Given the description of an element on the screen output the (x, y) to click on. 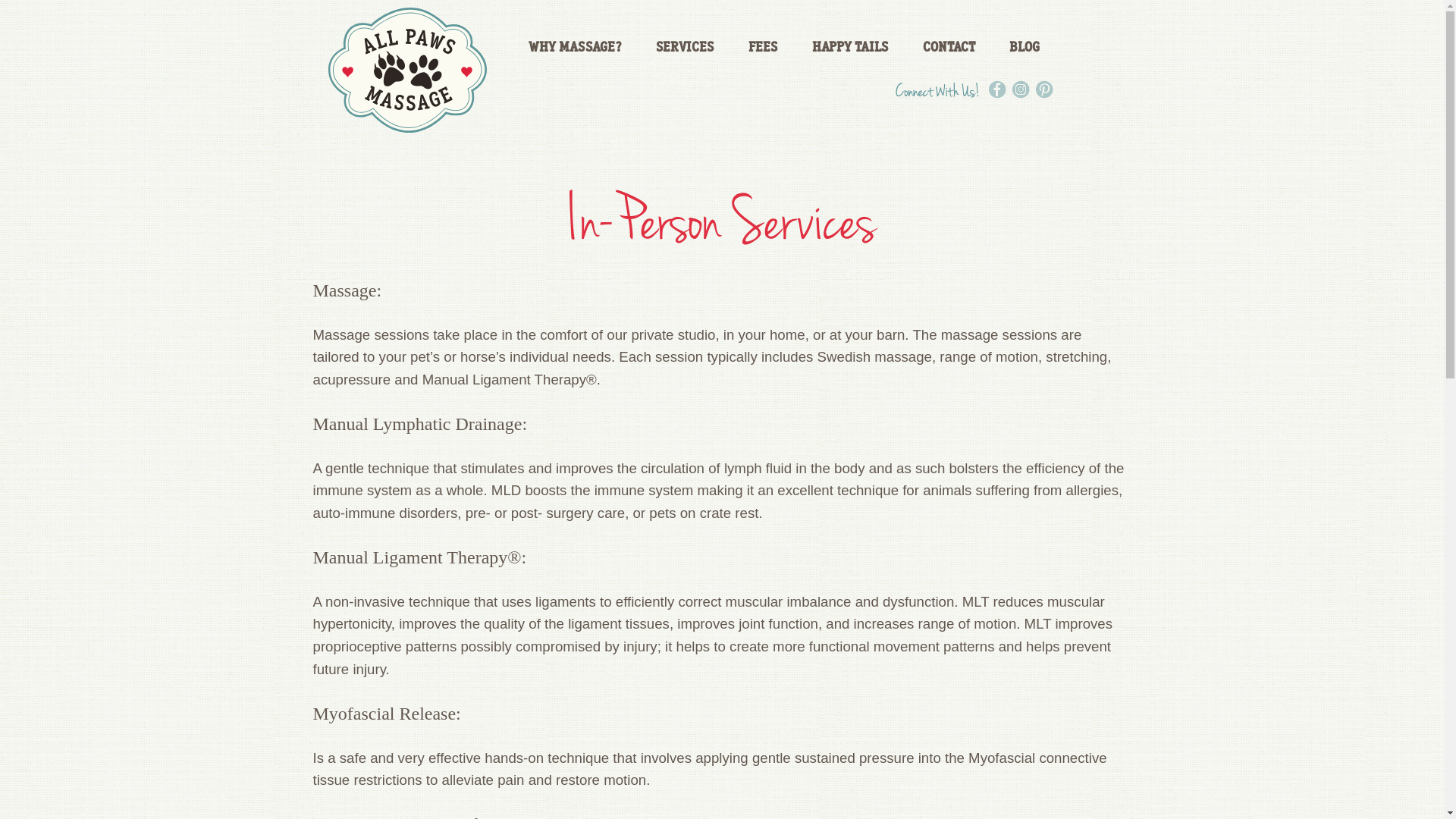
WHY MASSAGE? Element type: text (574, 47)
FEES Element type: text (763, 47)
HAPPY TAILS Element type: text (850, 47)
CONTACT Element type: text (948, 47)
SERVICES Element type: text (684, 47)
BLOG Element type: text (1024, 47)
All Paws Massage Element type: hover (406, 70)
